Given the description of an element on the screen output the (x, y) to click on. 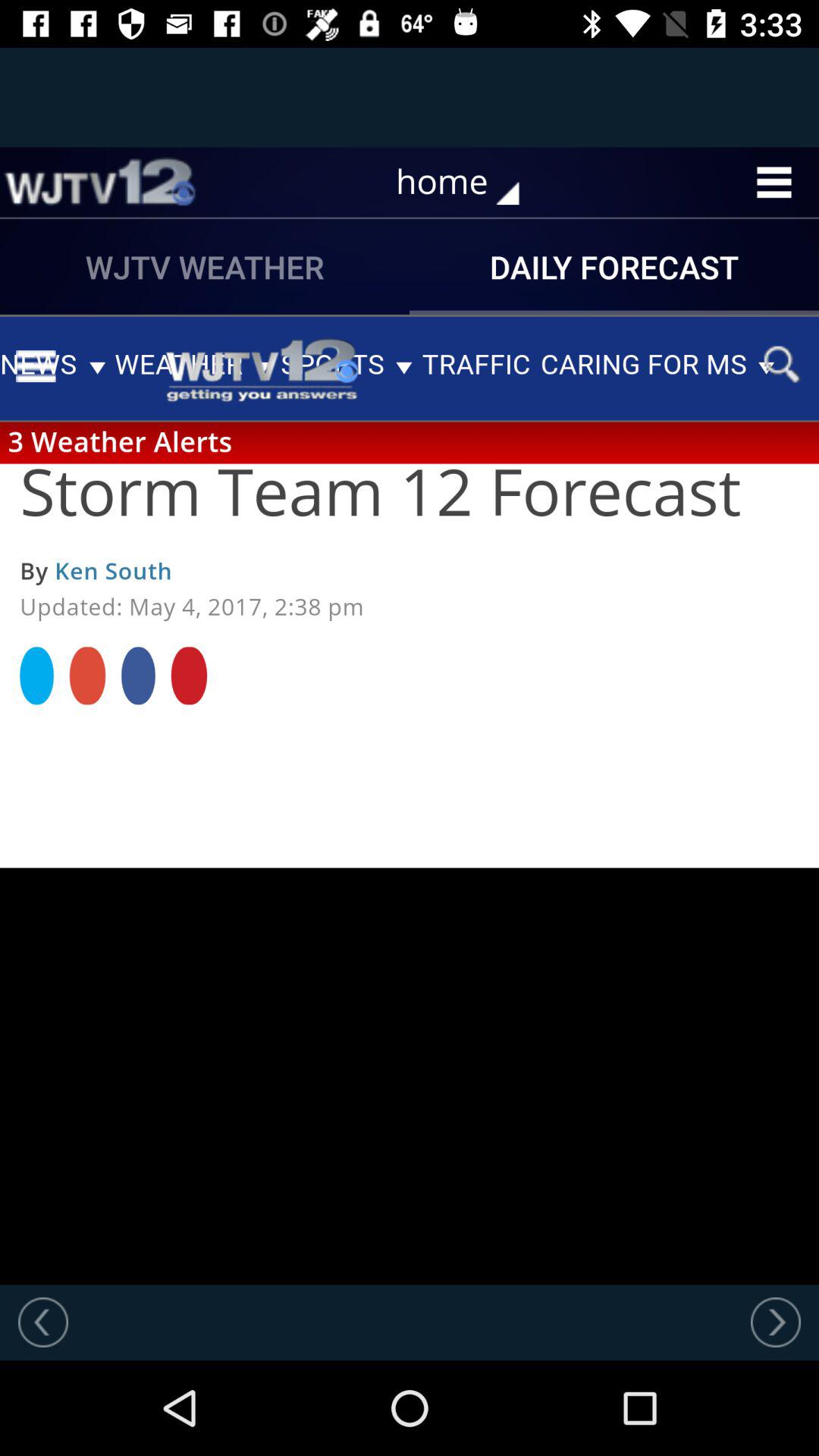
play station (99, 182)
